Given the description of an element on the screen output the (x, y) to click on. 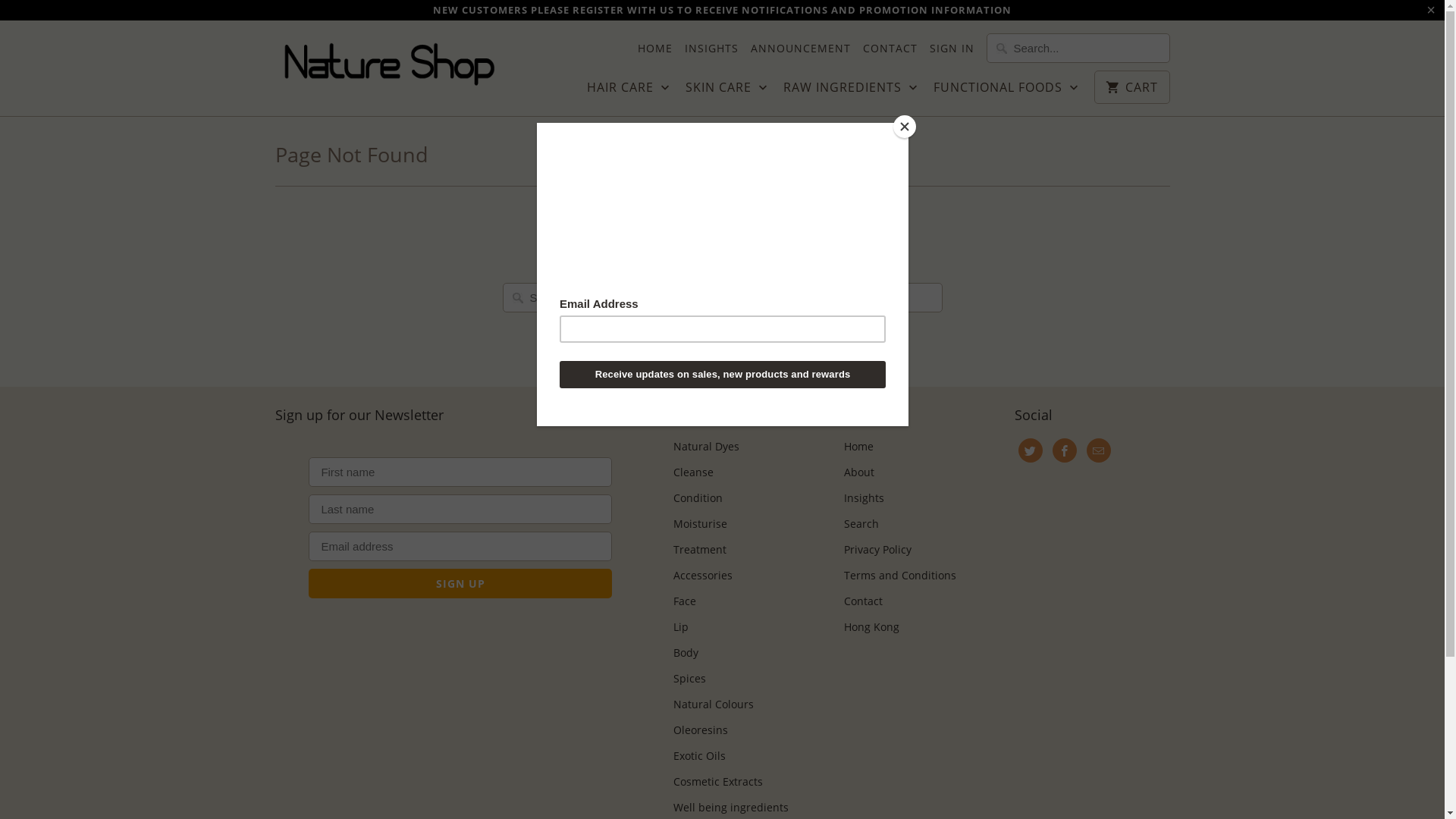
Home Element type: text (857, 446)
Natural Dyes Element type: text (706, 446)
CONTACT Element type: text (889, 48)
Nature Shop on Facebook Element type: hover (1064, 450)
Search Element type: text (860, 523)
Treatment Element type: text (699, 549)
SKIN CARE Element type: text (726, 91)
Oleoresins Element type: text (700, 729)
HAIR CARE Element type: text (628, 91)
Exotic Oils Element type: text (699, 755)
Nature Shop on Twitter Element type: hover (1029, 450)
Cleanse Element type: text (693, 471)
Well being ingredients Element type: text (730, 807)
Spices Element type: text (689, 678)
Accessories Element type: text (702, 574)
Natural Colours Element type: text (713, 703)
SIGN IN Element type: text (951, 48)
Nature Shop Element type: hover (388, 64)
INSIGHTS Element type: text (710, 48)
Moisturise Element type: text (700, 523)
Insights Element type: text (863, 497)
About Element type: text (858, 471)
Body Element type: text (685, 652)
RAW INGREDIENTS Element type: text (850, 91)
Privacy Policy Element type: text (876, 549)
ANNOUNCEMENT Element type: text (800, 48)
Hong Kong Element type: text (870, 626)
Cosmetic Extracts Element type: text (717, 781)
Face Element type: text (684, 600)
Email Nature Shop Element type: hover (1097, 450)
Lip Element type: text (680, 626)
Contact Element type: text (862, 600)
HOME Element type: text (654, 48)
Terms and Conditions Element type: text (899, 574)
CART Element type: text (1131, 86)
continue shopping Element type: text (765, 261)
Sign Up Element type: text (459, 583)
Condition Element type: text (697, 497)
FUNCTIONAL FOODS Element type: text (1006, 91)
